Given the description of an element on the screen output the (x, y) to click on. 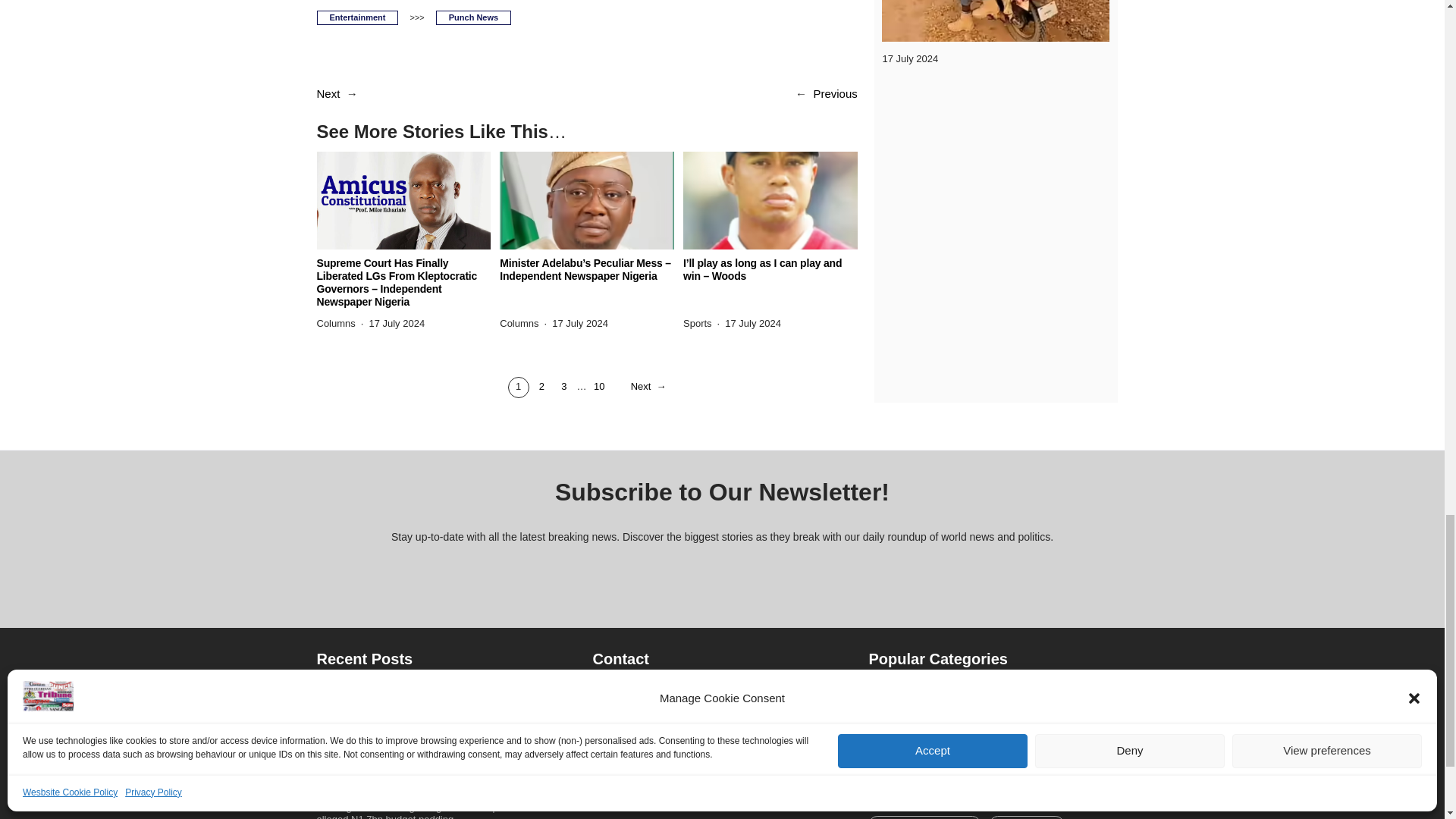
Punch News (473, 17)
Previous (834, 92)
Columns (336, 323)
Entertainment (357, 17)
Columns (518, 323)
Next (328, 92)
